Given the description of an element on the screen output the (x, y) to click on. 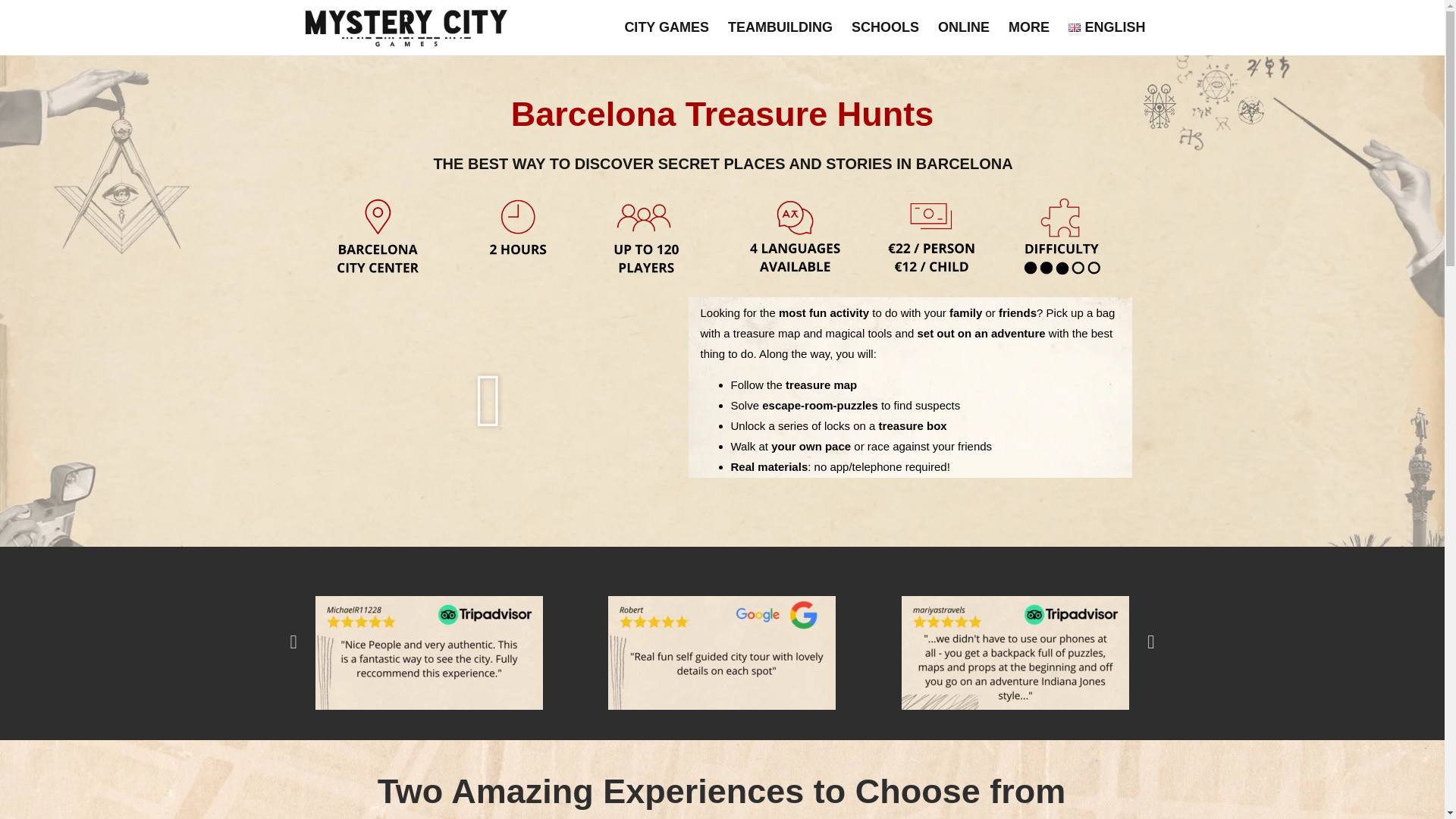
CITY GAMES (666, 27)
TEAMBUILDING (780, 27)
SCHOOLS (884, 27)
